Given the description of an element on the screen output the (x, y) to click on. 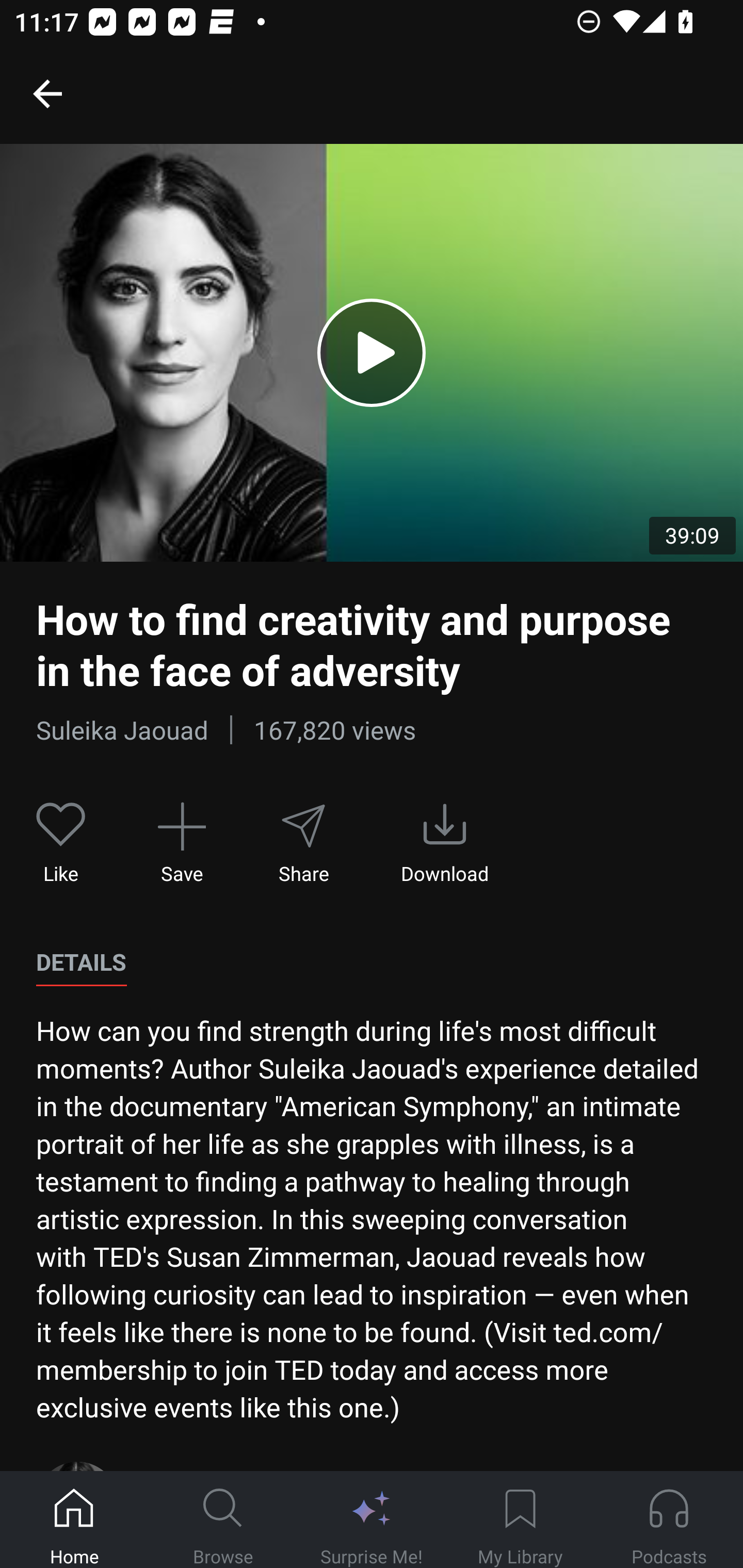
Home, back (47, 92)
Like (60, 843)
Save (181, 843)
Share (302, 843)
Download (444, 843)
DETAILS (80, 962)
Home (74, 1520)
Browse (222, 1520)
Surprise Me! (371, 1520)
My Library (519, 1520)
Podcasts (668, 1520)
